Given the description of an element on the screen output the (x, y) to click on. 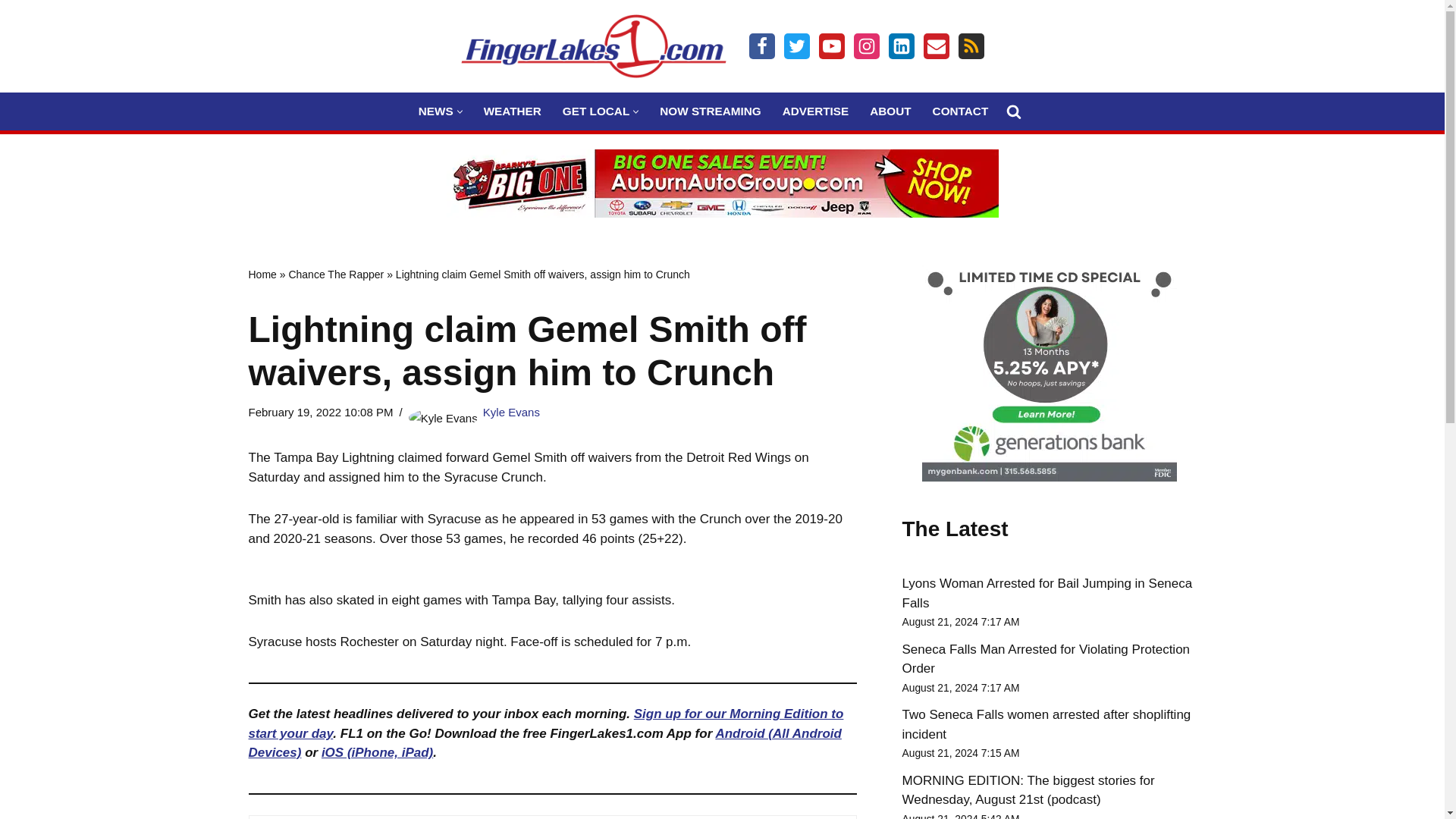
Skip to content (11, 31)
ADVERTISE (815, 111)
ABOUT (890, 111)
GET LOCAL (595, 111)
Posts by Kyle Evans (511, 411)
Email Us (936, 45)
CONTACT (960, 111)
Feed (971, 45)
Twitter (796, 45)
NOW STREAMING (709, 111)
